Given the description of an element on the screen output the (x, y) to click on. 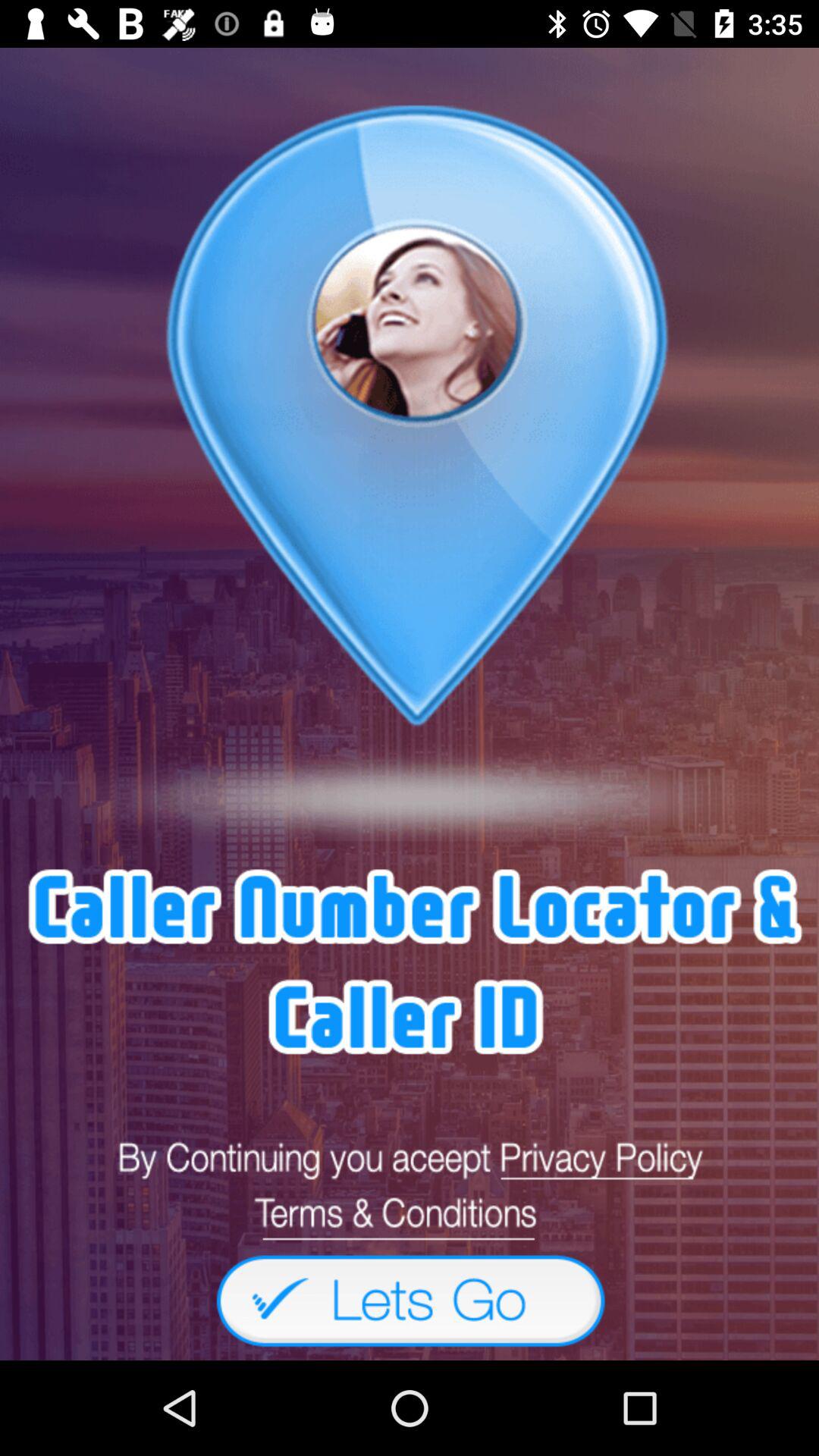
start using the app (409, 1300)
